Given the description of an element on the screen output the (x, y) to click on. 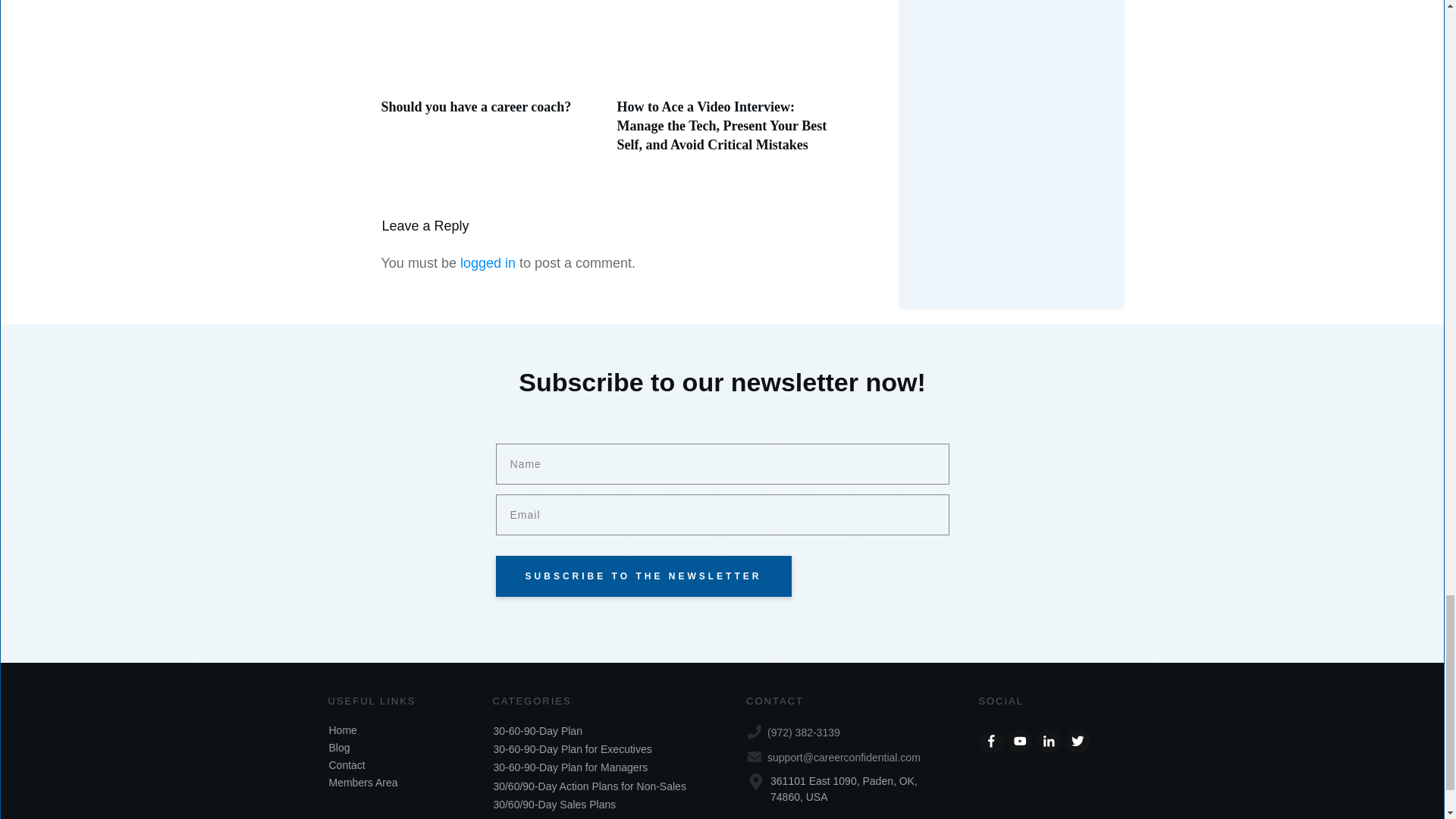
Should you have a career coach? (475, 106)
